Given the description of an element on the screen output the (x, y) to click on. 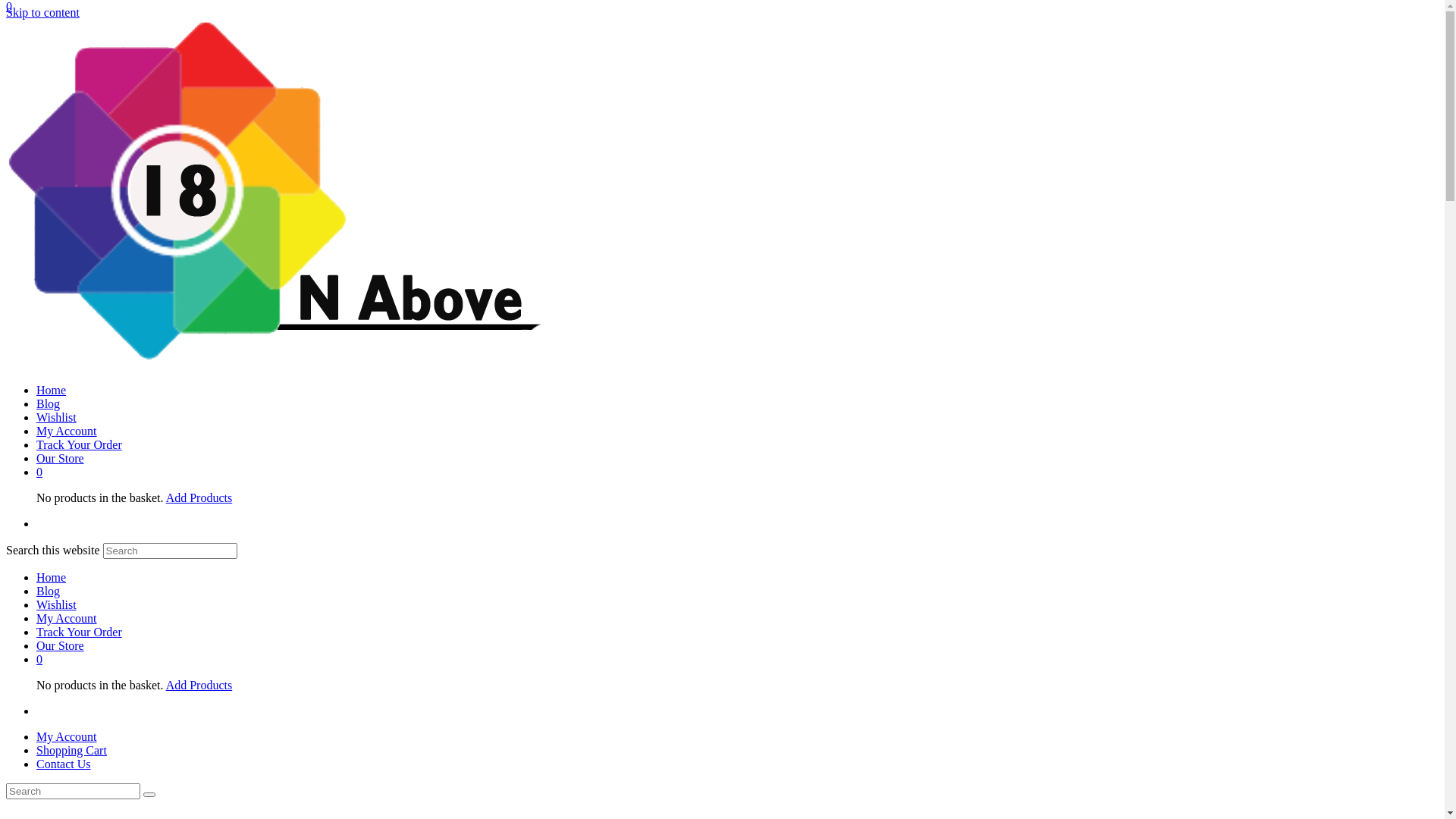
0 Element type: text (9, 6)
Wishlist Element type: text (56, 604)
0 Element type: text (39, 471)
Skip to content Element type: text (42, 12)
My Account Element type: text (66, 736)
Blog Element type: text (47, 590)
Home Element type: text (50, 389)
My Account Element type: text (66, 617)
Our Store Element type: text (60, 457)
0 Element type: text (39, 658)
Shopping Cart Element type: text (71, 749)
Wishlist Element type: text (56, 417)
Track Your Order Element type: text (79, 444)
My Account Element type: text (66, 430)
Add Products Element type: text (199, 684)
Our Store Element type: text (60, 645)
Home Element type: text (50, 577)
Track Your Order Element type: text (79, 631)
Blog Element type: text (47, 403)
Add Products Element type: text (199, 497)
Contact Us Element type: text (63, 763)
